Given the description of an element on the screen output the (x, y) to click on. 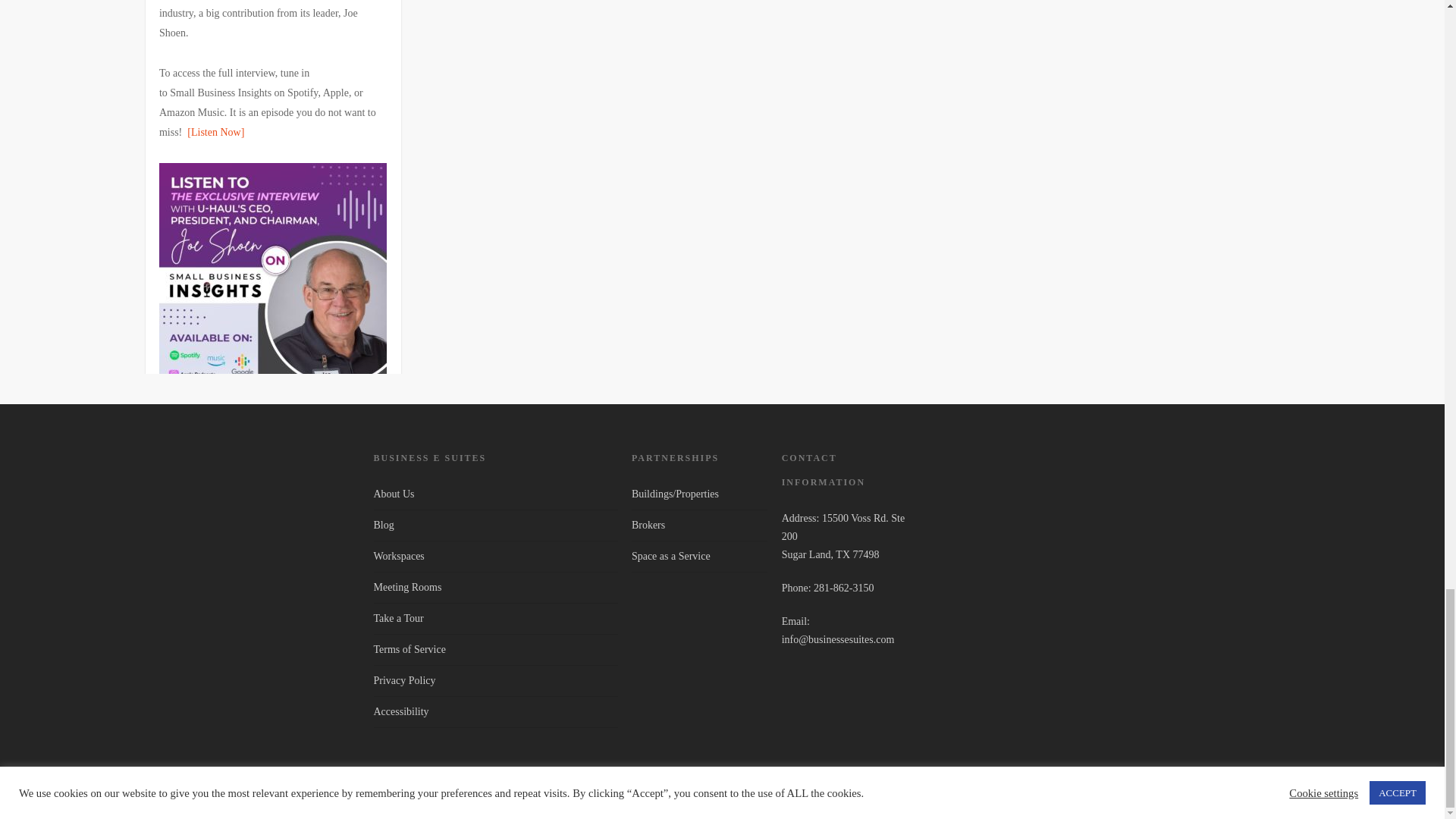
Take a Tour (494, 618)
Space as a Service (699, 556)
Brokers (699, 525)
Accessibility (494, 711)
Terms of Service (494, 649)
Workspaces (494, 556)
Meeting Rooms (494, 587)
Blog (494, 525)
About Us (494, 497)
Privacy Policy (494, 680)
